Given the description of an element on the screen output the (x, y) to click on. 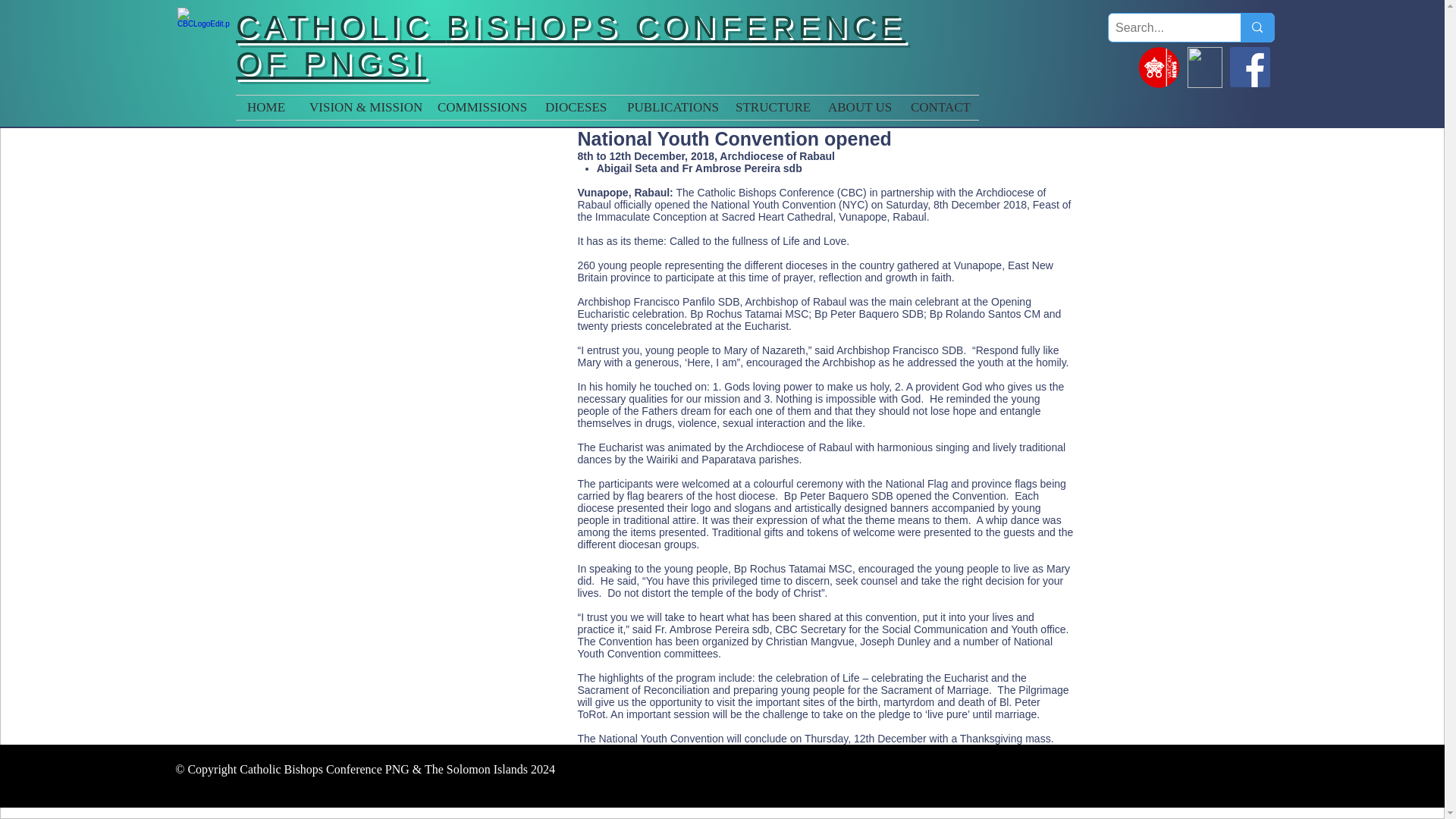
DIOCESES (574, 107)
vaticanNewsLogoEdit.png (1158, 66)
CATHOLIC BISHOPS CONFERENCE OF PNGSI (570, 45)
COMMISSIONS (480, 107)
HOME (266, 107)
